Given the description of an element on the screen output the (x, y) to click on. 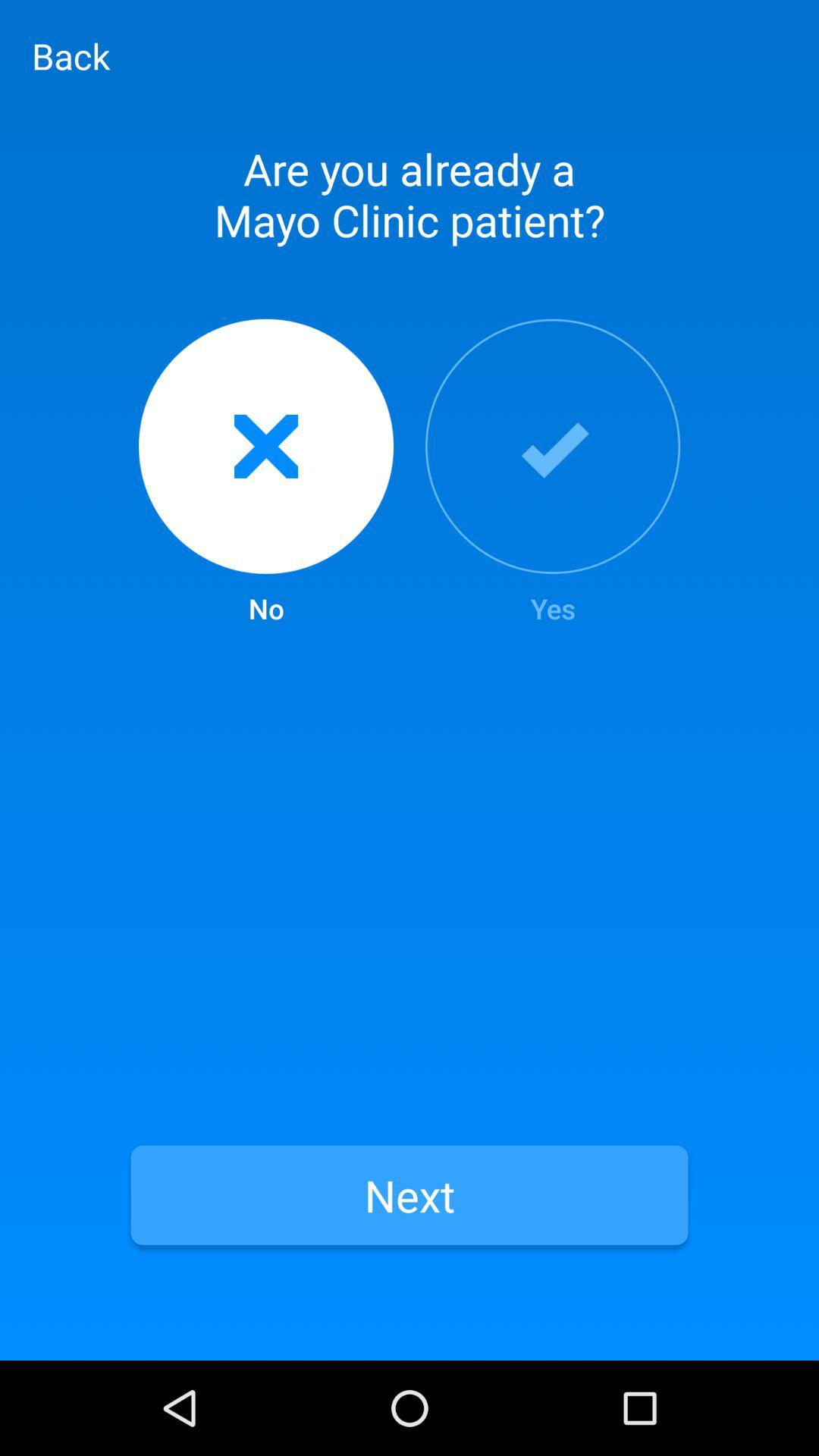
choose the item below are you already icon (552, 473)
